Given the description of an element on the screen output the (x, y) to click on. 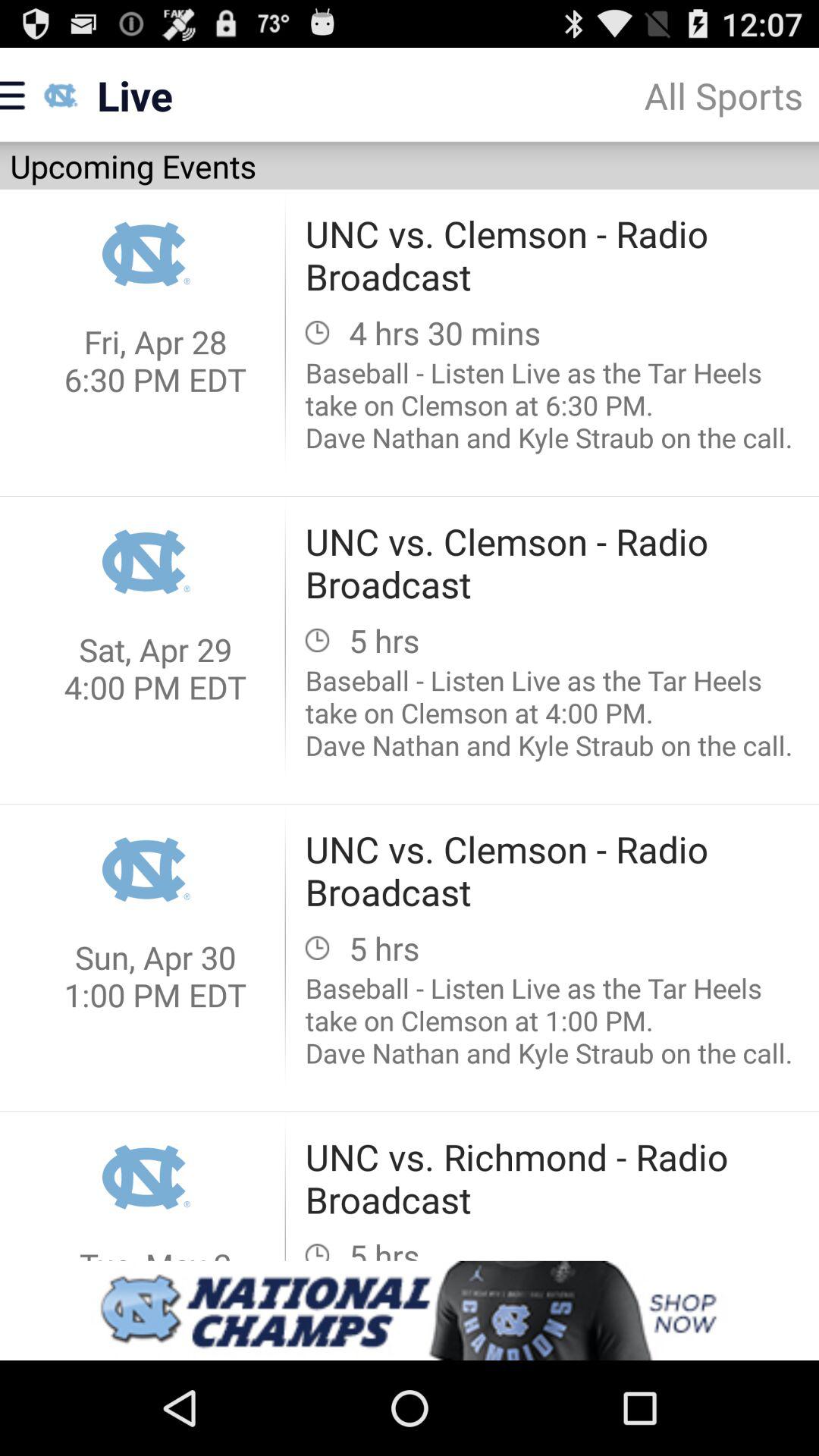
open link to advertisement (409, 1310)
